Given the description of an element on the screen output the (x, y) to click on. 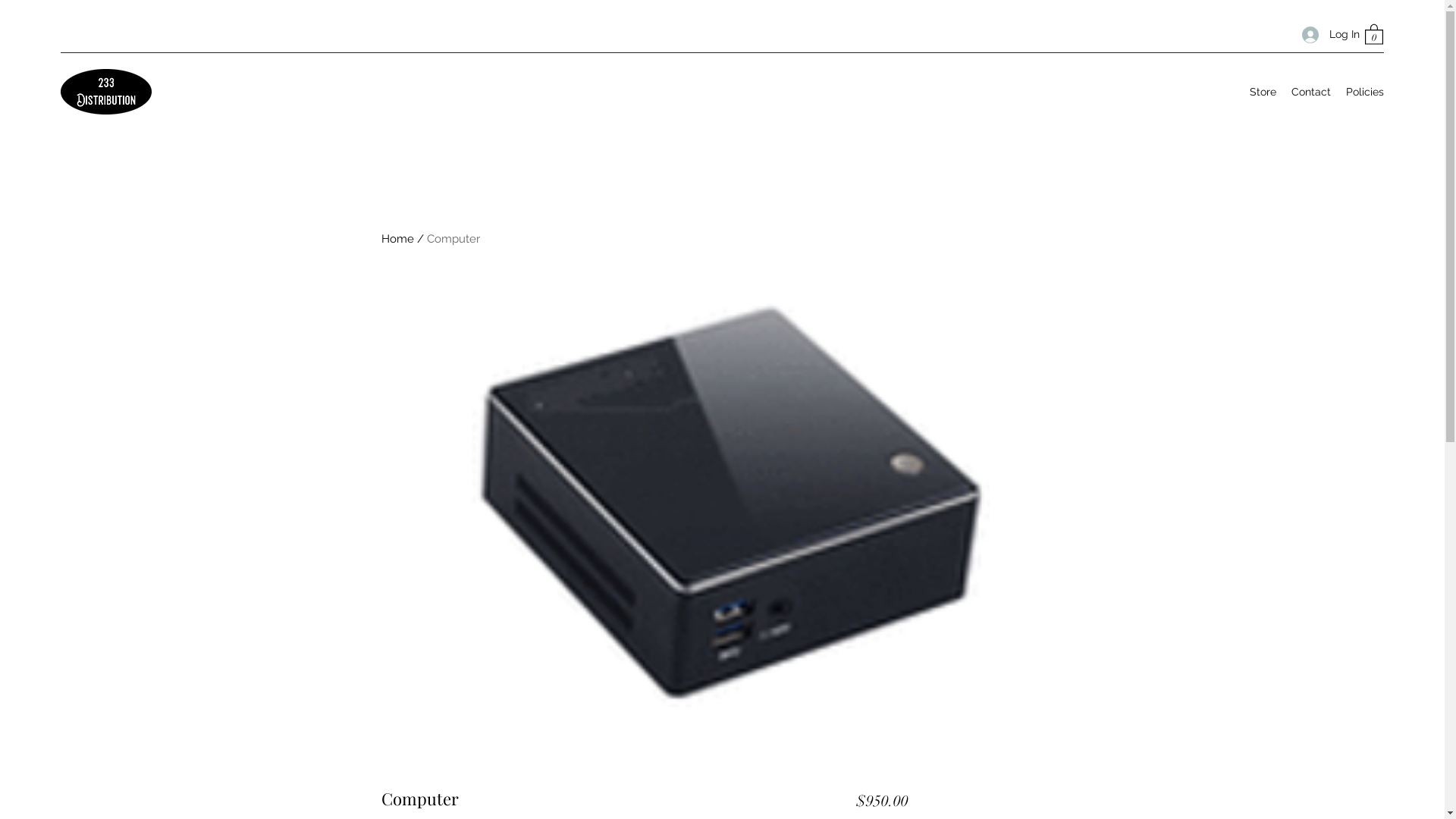
Computer Element type: text (452, 238)
Contact Element type: text (1310, 91)
Home Element type: text (396, 238)
Log In Element type: text (1325, 34)
Store Element type: text (1262, 91)
0 Element type: text (1374, 33)
Policies Element type: text (1364, 91)
